Given the description of an element on the screen output the (x, y) to click on. 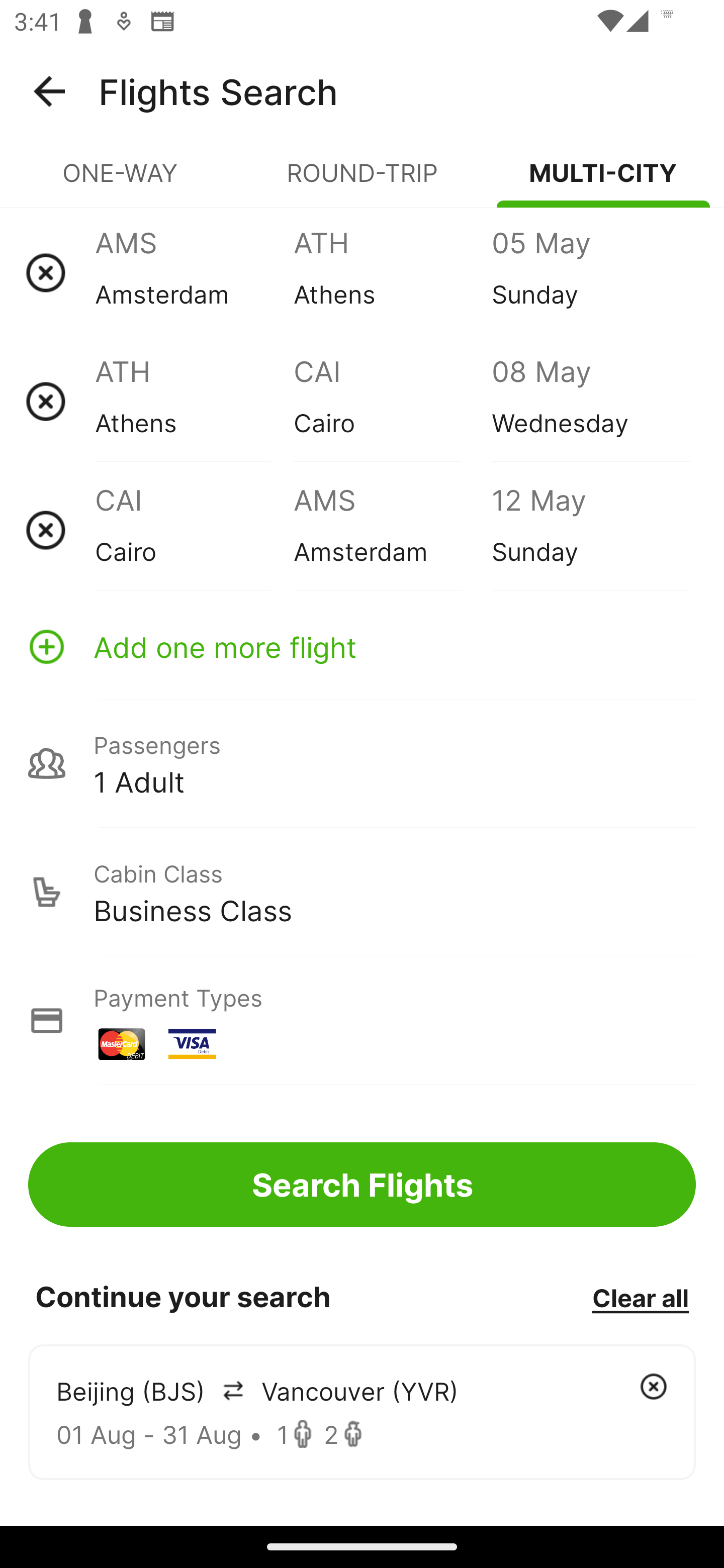
ONE-WAY (120, 180)
ROUND-TRIP (361, 180)
MULTI-CITY (603, 180)
AMS Amsterdam (193, 272)
ATH Athens (392, 272)
05 May Sunday (590, 272)
ATH Athens (193, 401)
CAI Cairo (392, 401)
08 May Wednesday (590, 401)
CAI Cairo (193, 529)
AMS Amsterdam (392, 529)
12 May Sunday (590, 529)
Add one more flight (362, 646)
Passengers 1 Adult (362, 762)
Cabin Class Business Class (362, 891)
Payment Types (362, 1020)
Search Flights (361, 1184)
Clear all (640, 1297)
